Given the description of an element on the screen output the (x, y) to click on. 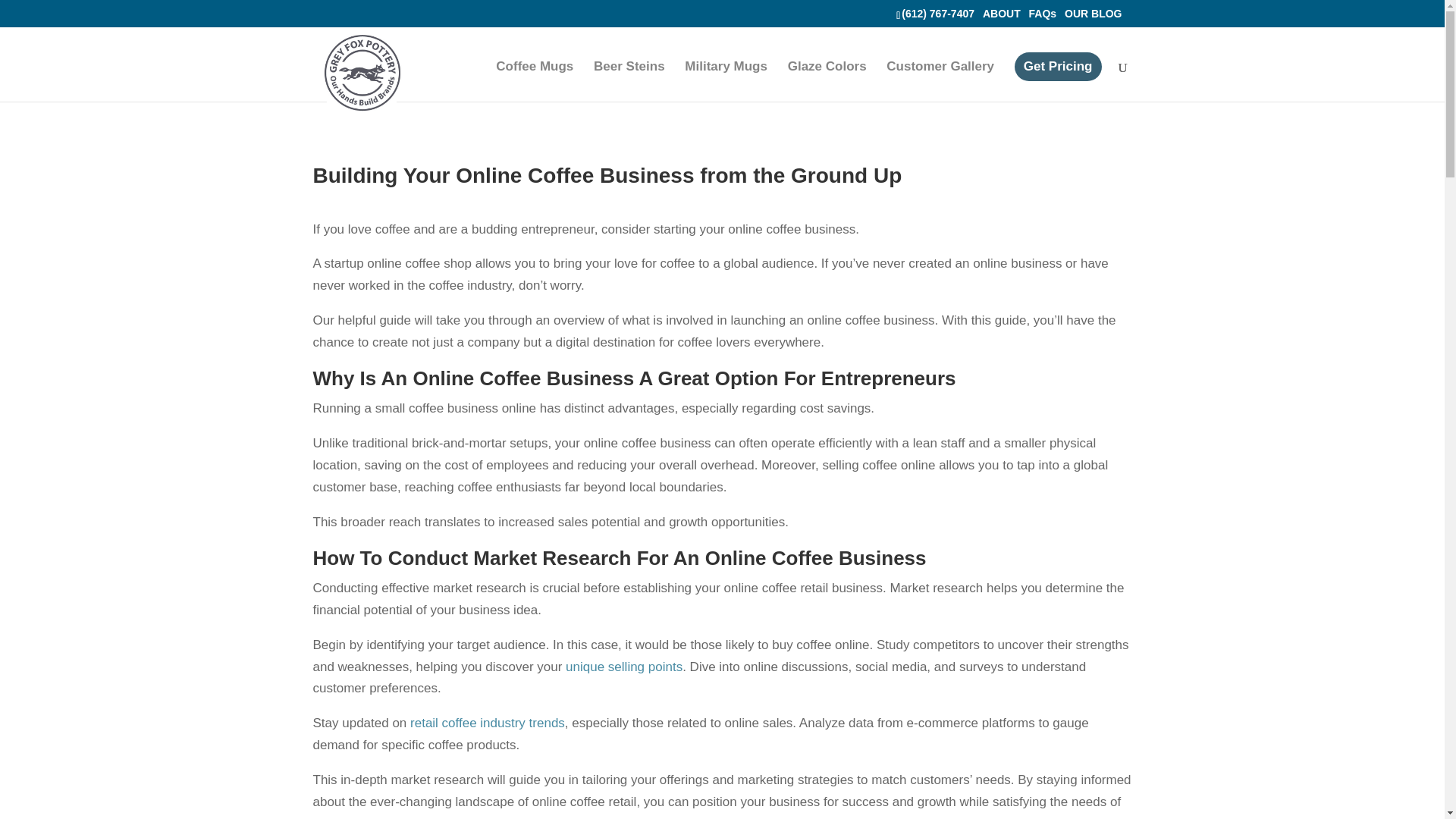
Beer Steins (629, 81)
ABOUT (1001, 13)
retail coffee industry trends (487, 722)
unique selling points (624, 667)
OUR BLOG (1092, 13)
FAQs (1043, 13)
Military Mugs (725, 81)
Glaze Colors (826, 81)
Get Pricing (1058, 66)
Coffee Mugs (534, 81)
Customer Gallery (940, 81)
